Given the description of an element on the screen output the (x, y) to click on. 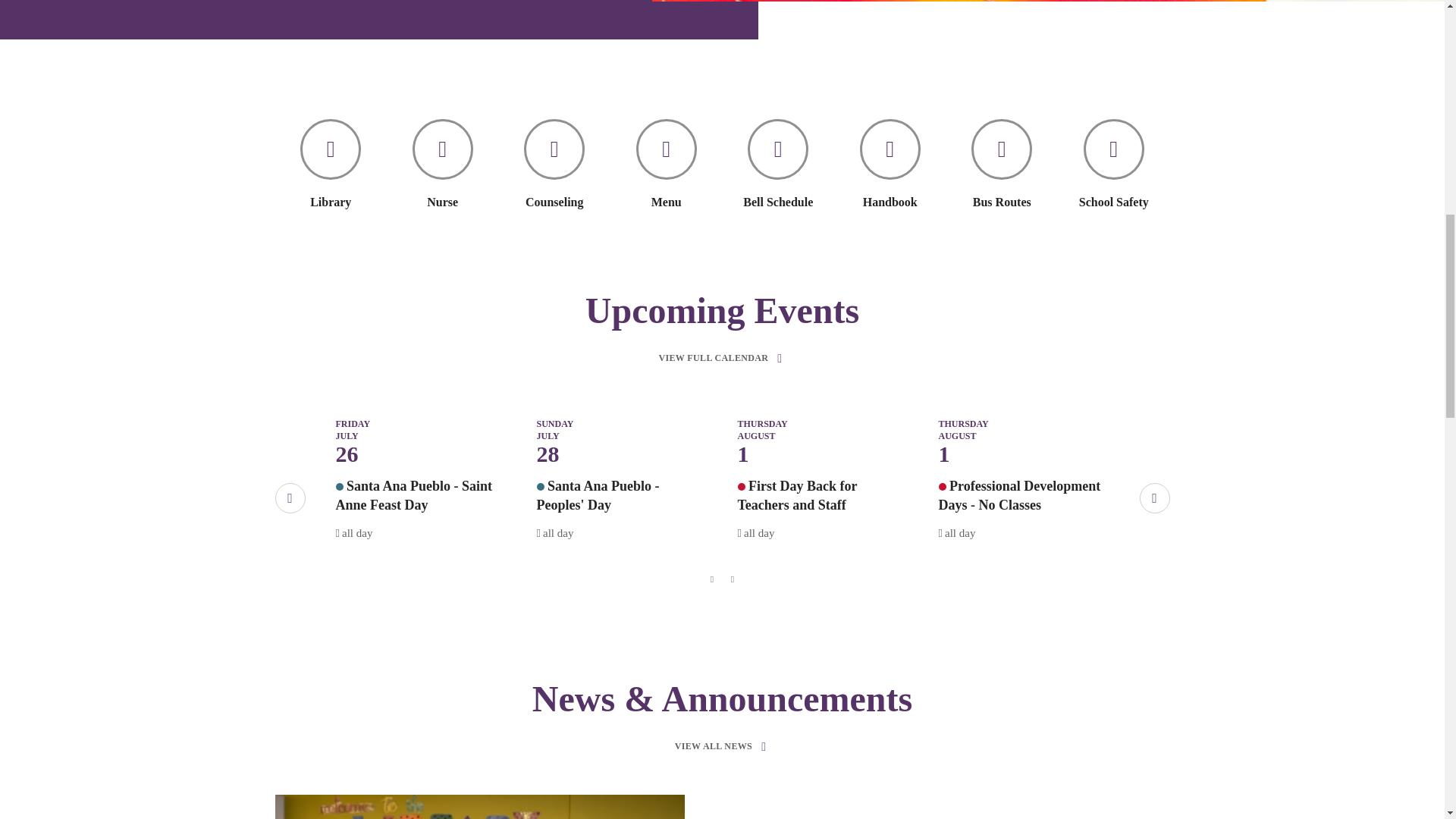
APS SY 2024-2025 District Calendar (740, 486)
APS SY 2024-2025 Community and Cultural Activities Calendar (540, 486)
APS SY 2024-2025 District Calendar (942, 486)
APS SY 2024-2025 Community and Cultural Activities Calendar (338, 486)
